Given the description of an element on the screen output the (x, y) to click on. 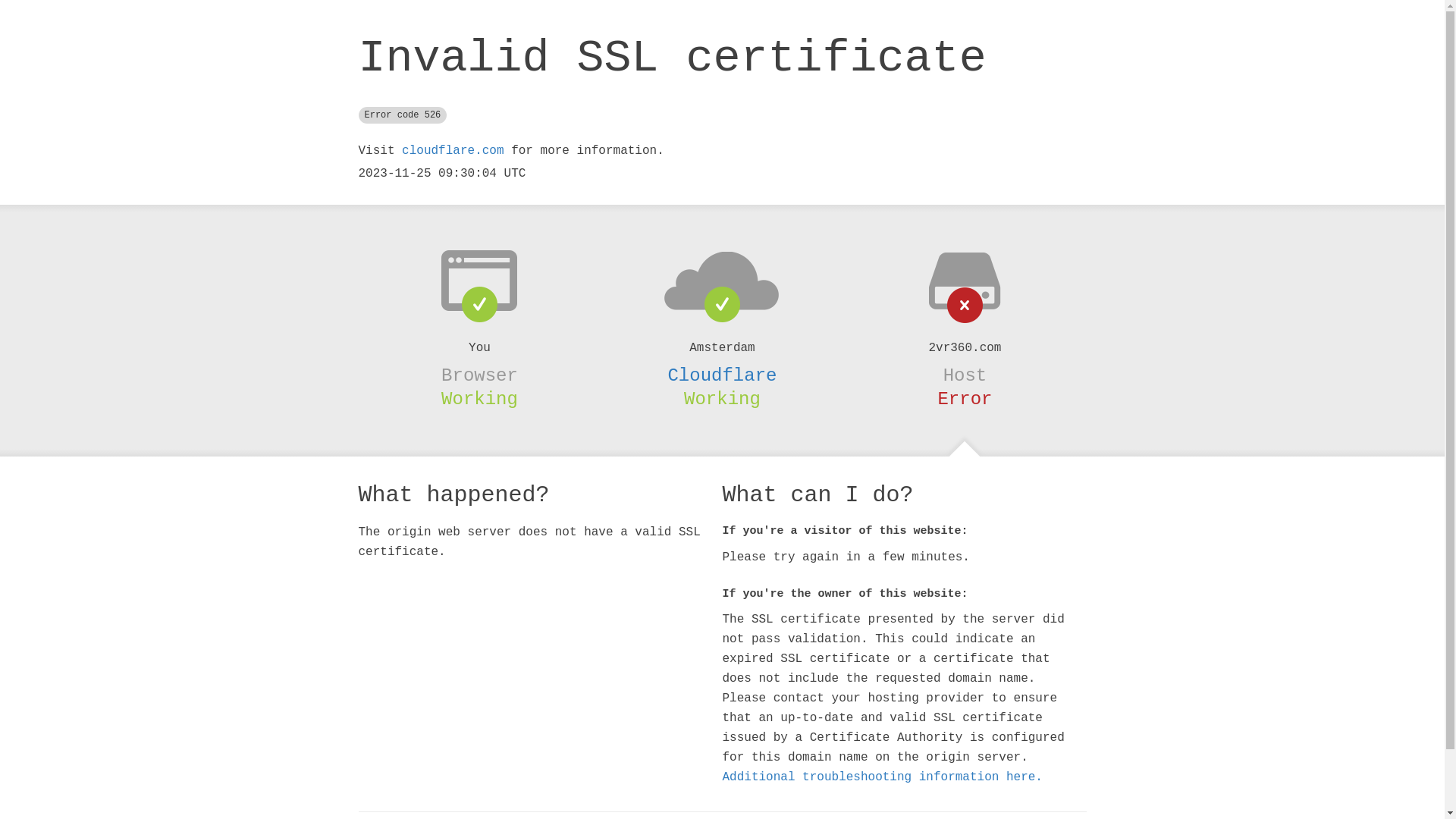
cloudflare.com Element type: text (452, 150)
Additional troubleshooting information here. Element type: text (881, 777)
Cloudflare Element type: text (721, 375)
